Given the description of an element on the screen output the (x, y) to click on. 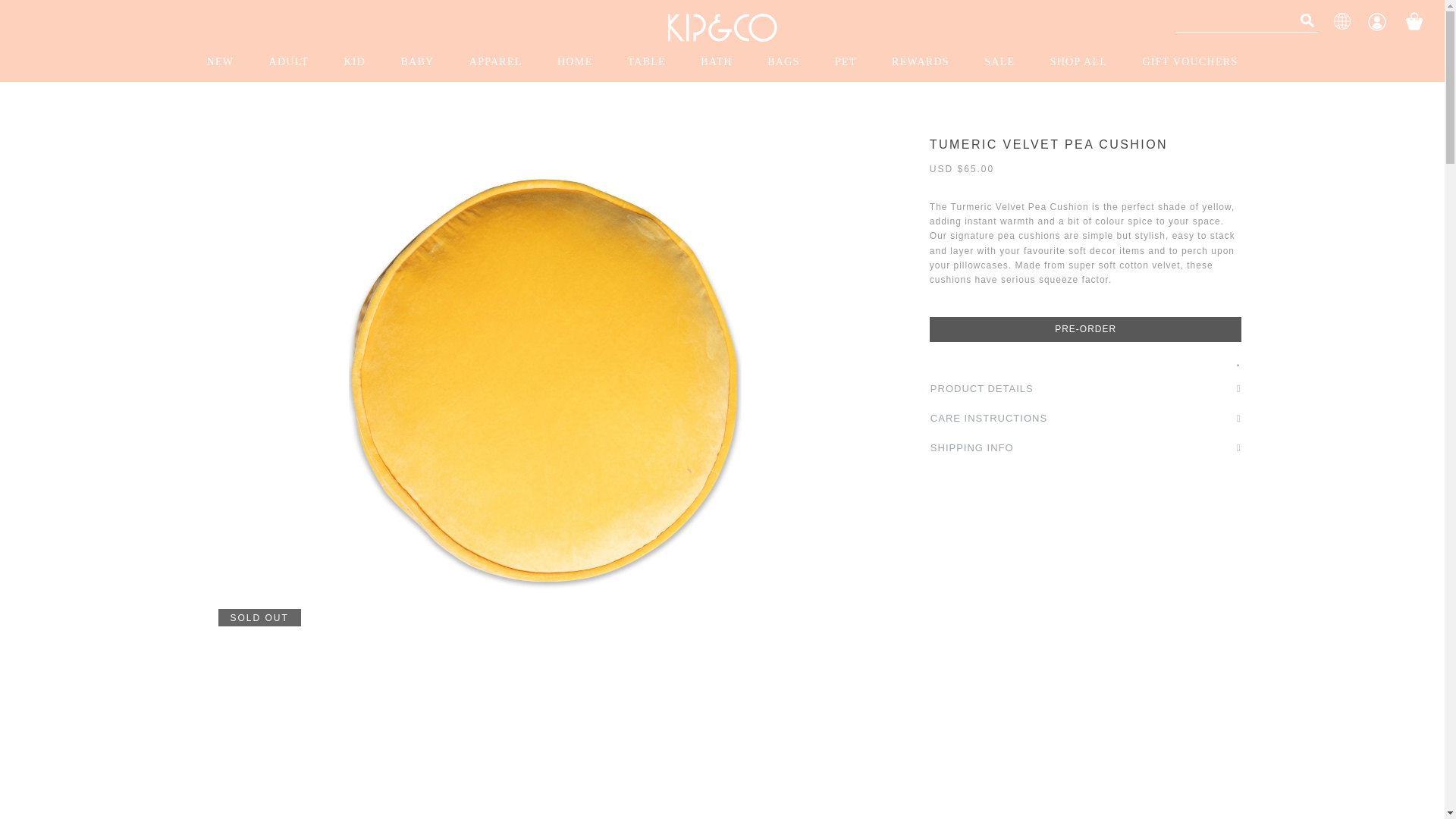
APPAREL (495, 61)
HOME (574, 61)
REWARDS (920, 61)
BABY (417, 61)
BAGS (782, 61)
ADULT (288, 61)
TABLE (646, 61)
BATH (716, 61)
